Given the description of an element on the screen output the (x, y) to click on. 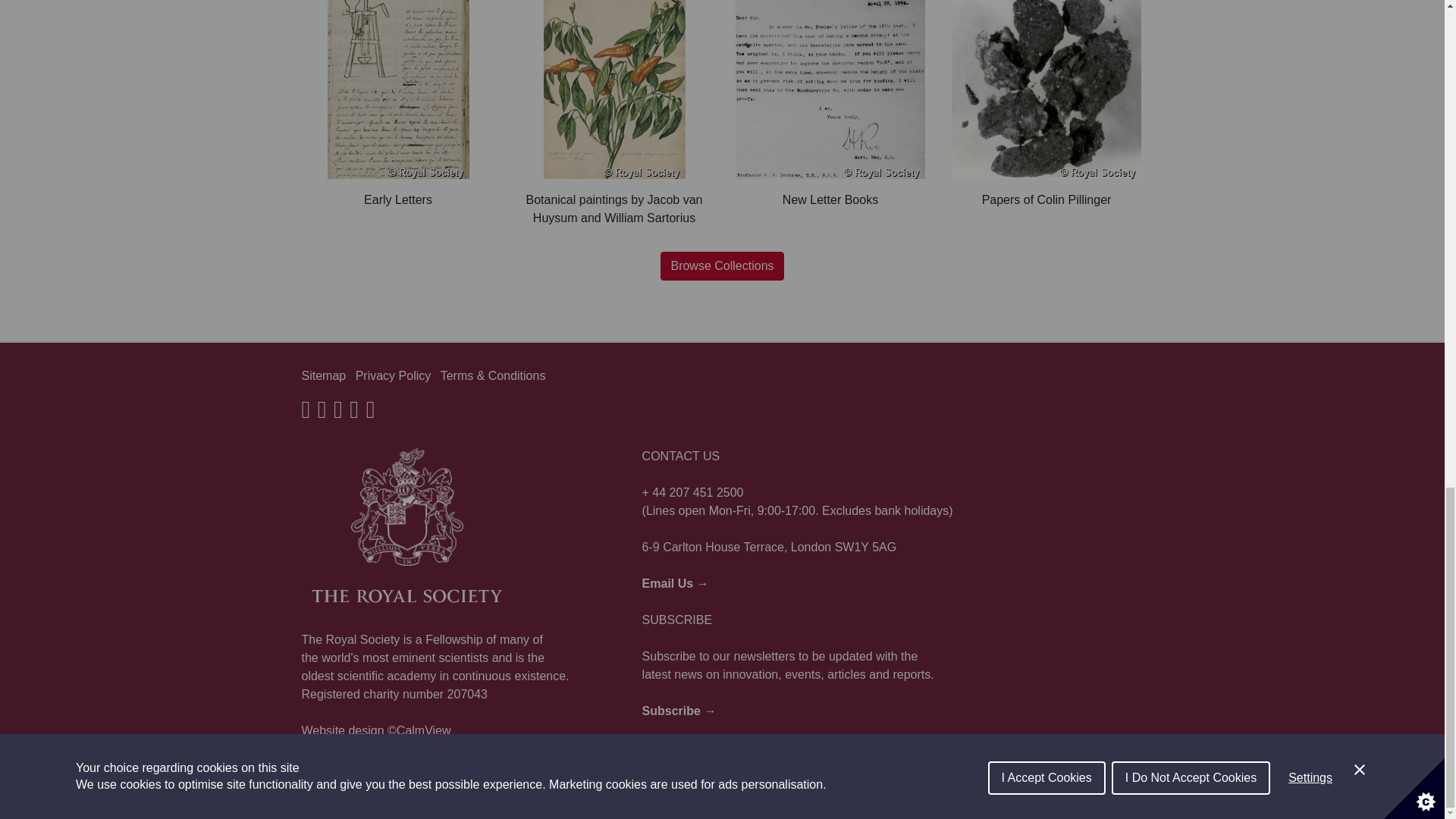
New Letter Books (830, 104)
Papers of Colin Pillinger (1045, 104)
Privacy Policy (392, 375)
Browse Collections (722, 265)
Sitemap (323, 375)
Early Letters (398, 104)
